Given the description of an element on the screen output the (x, y) to click on. 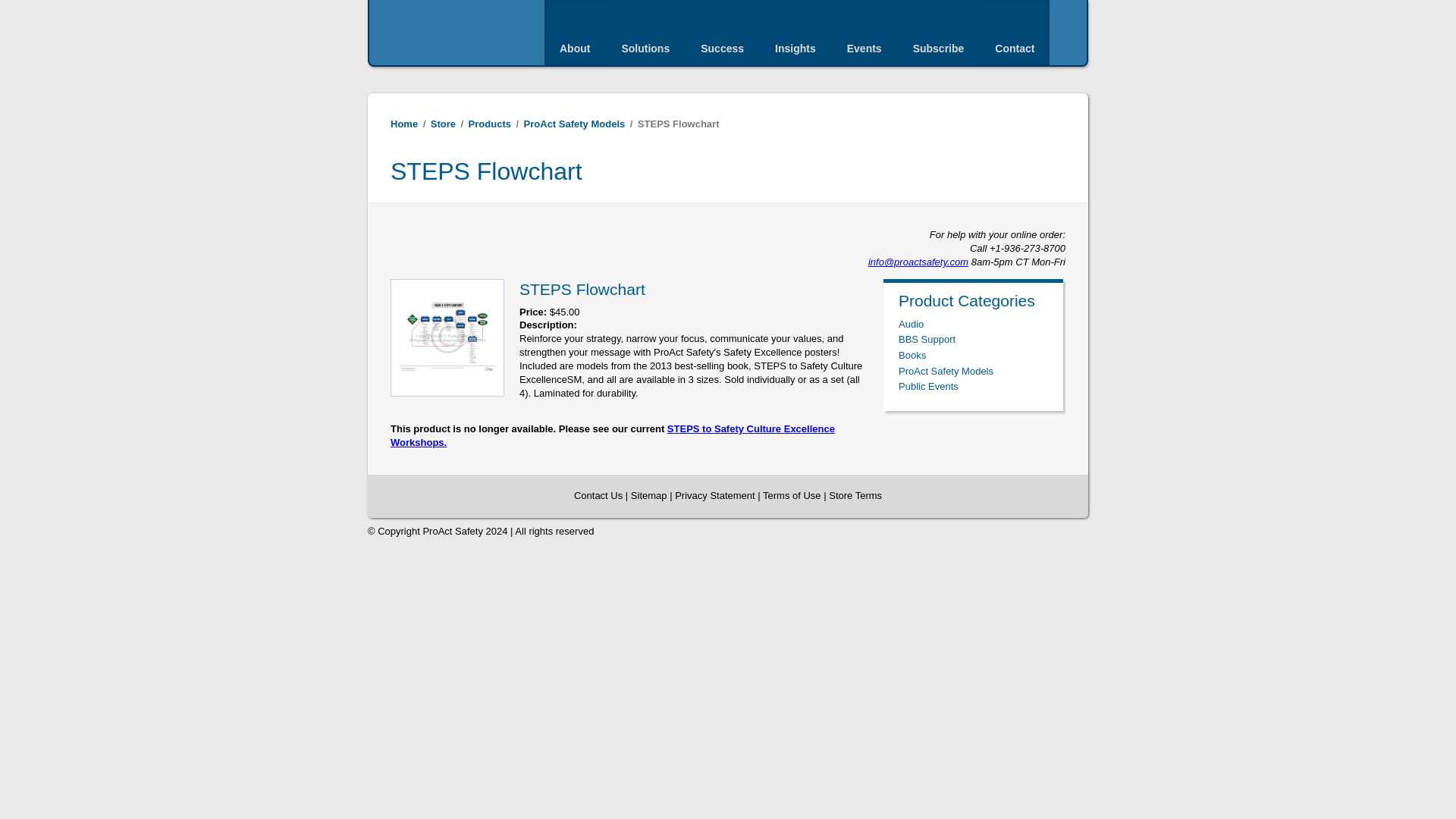
Success (721, 32)
Insights (795, 32)
Solutions (644, 32)
About (574, 32)
